Given the description of an element on the screen output the (x, y) to click on. 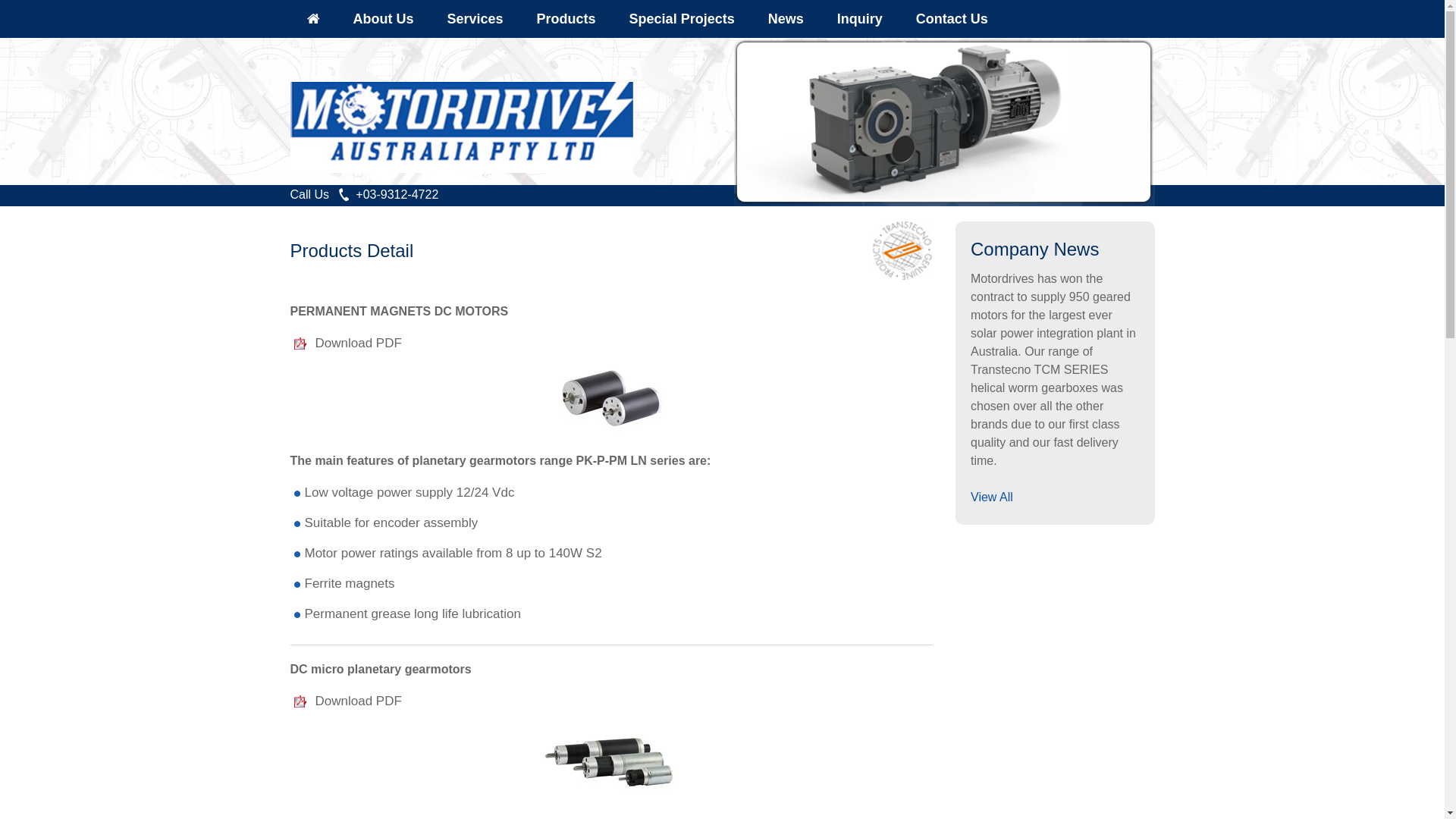
Download PDF Element type: text (358, 342)
Services Element type: text (475, 18)
Inquiry Element type: text (859, 18)
Download PDF Element type: text (358, 700)
About Us Element type: text (383, 18)
Products Element type: text (566, 18)
View All Element type: text (991, 496)
News Element type: text (785, 18)
Special Projects Element type: text (681, 18)
Contact Us Element type: text (951, 18)
